Given the description of an element on the screen output the (x, y) to click on. 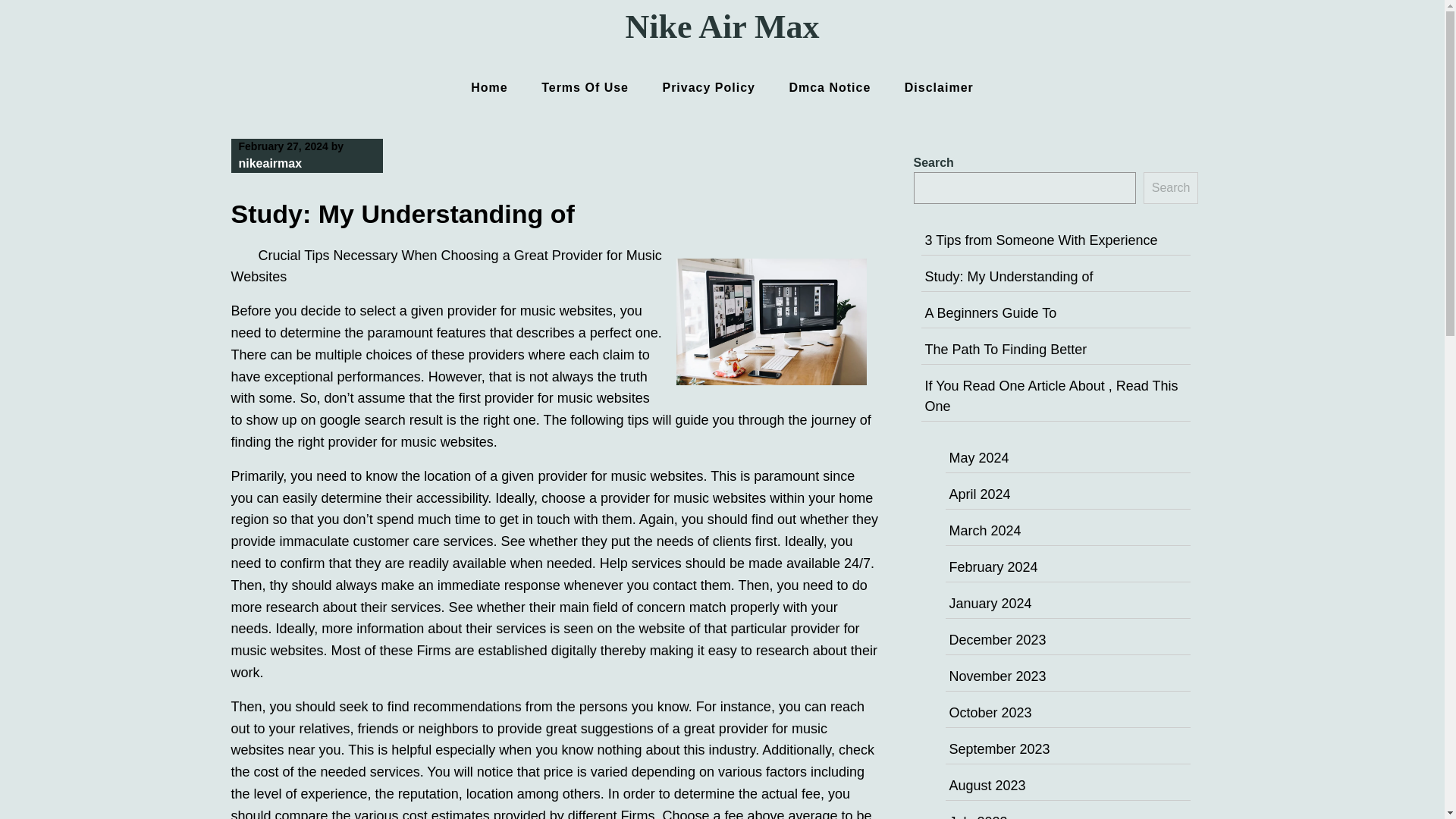
October 2023 (990, 712)
December 2023 (997, 639)
April 2024 (979, 494)
August 2023 (987, 785)
Nike Air Max (722, 26)
July 2023 (978, 816)
January 2024 (990, 603)
The Path To Finding Better (1005, 349)
Posts by nikeairmax (269, 163)
Search (1170, 187)
Home (488, 87)
May 2024 (979, 458)
Dmca Notice (829, 87)
February 2024 (993, 566)
3 Tips from Someone With Experience (1040, 240)
